Given the description of an element on the screen output the (x, y) to click on. 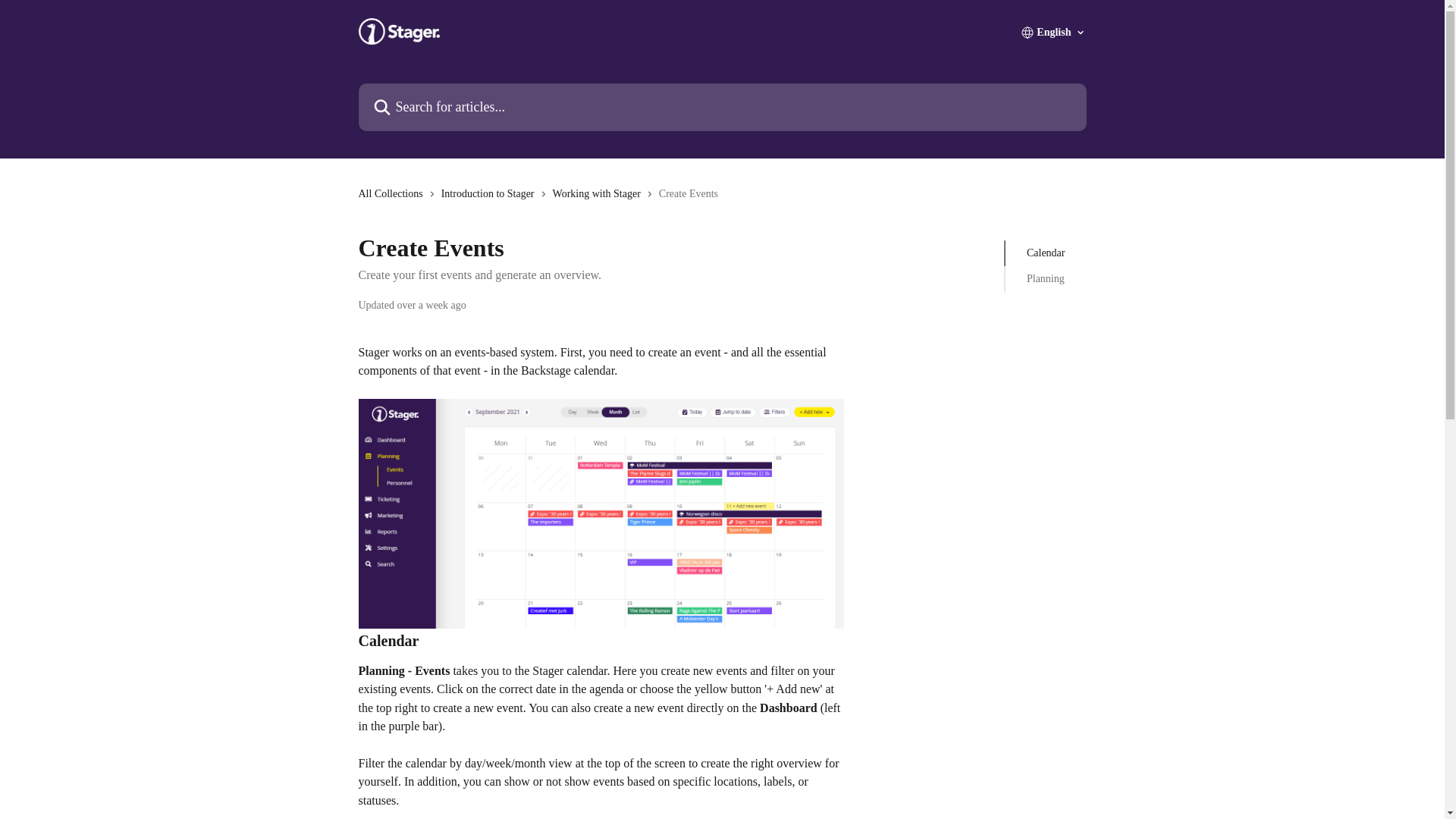
Calendar (1045, 252)
Working with Stager (599, 193)
Planning (1045, 279)
All Collections (393, 193)
Introduction to Stager (490, 193)
